Given the description of an element on the screen output the (x, y) to click on. 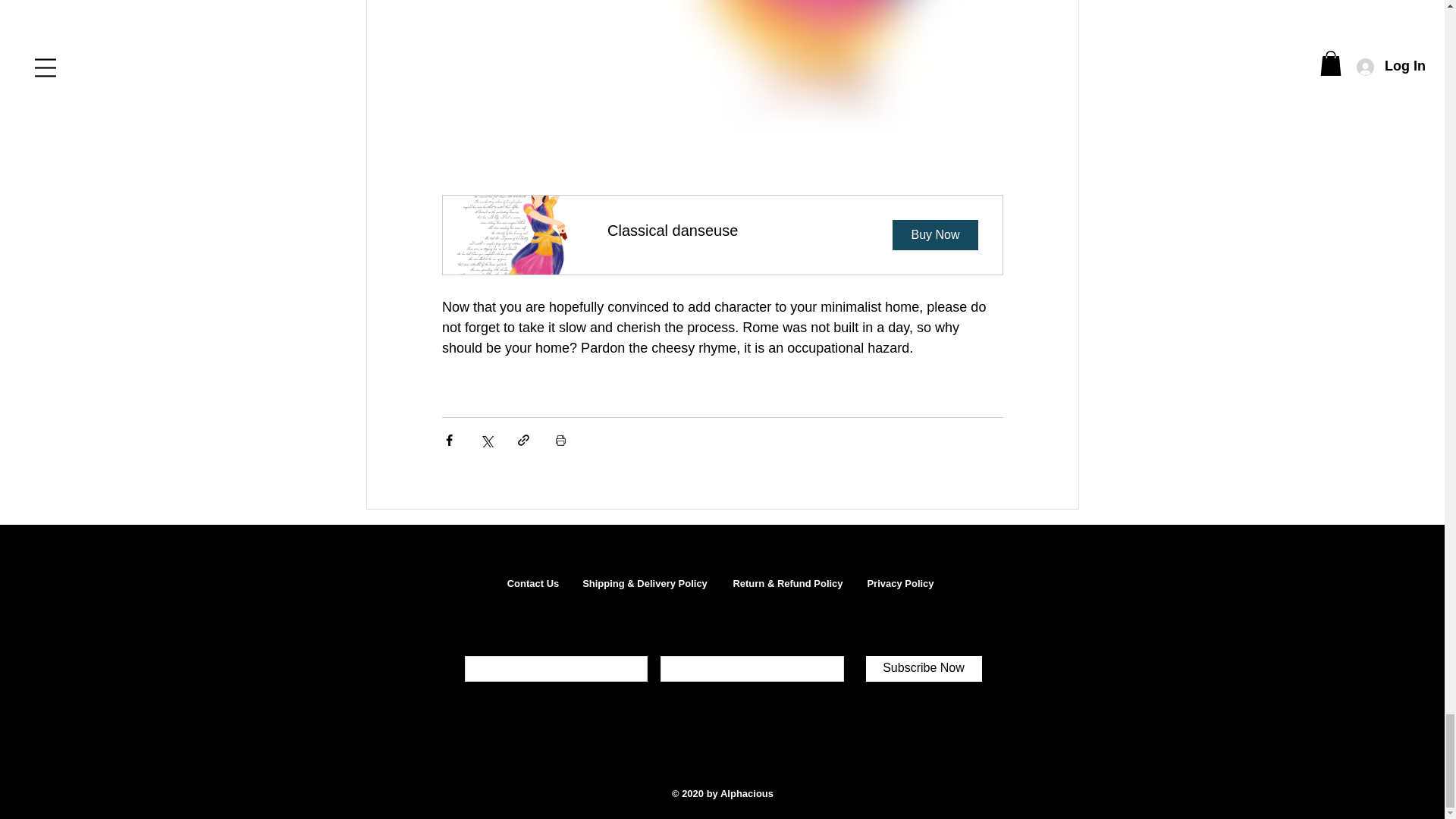
Privacy Policy (899, 583)
Contact Us (532, 583)
Subscribe Now (923, 668)
